Given the description of an element on the screen output the (x, y) to click on. 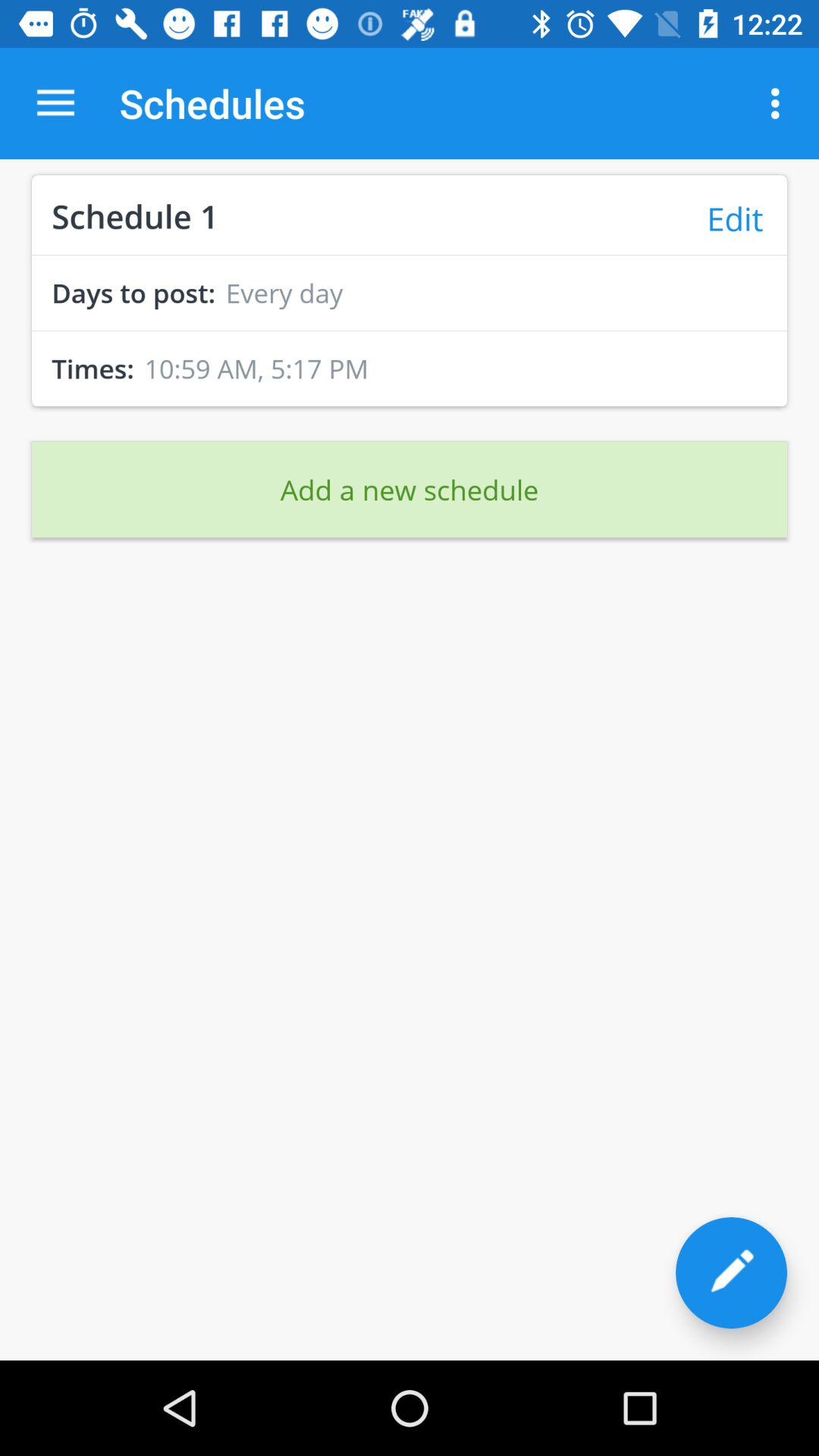
choose item above edit item (779, 103)
